Given the description of an element on the screen output the (x, y) to click on. 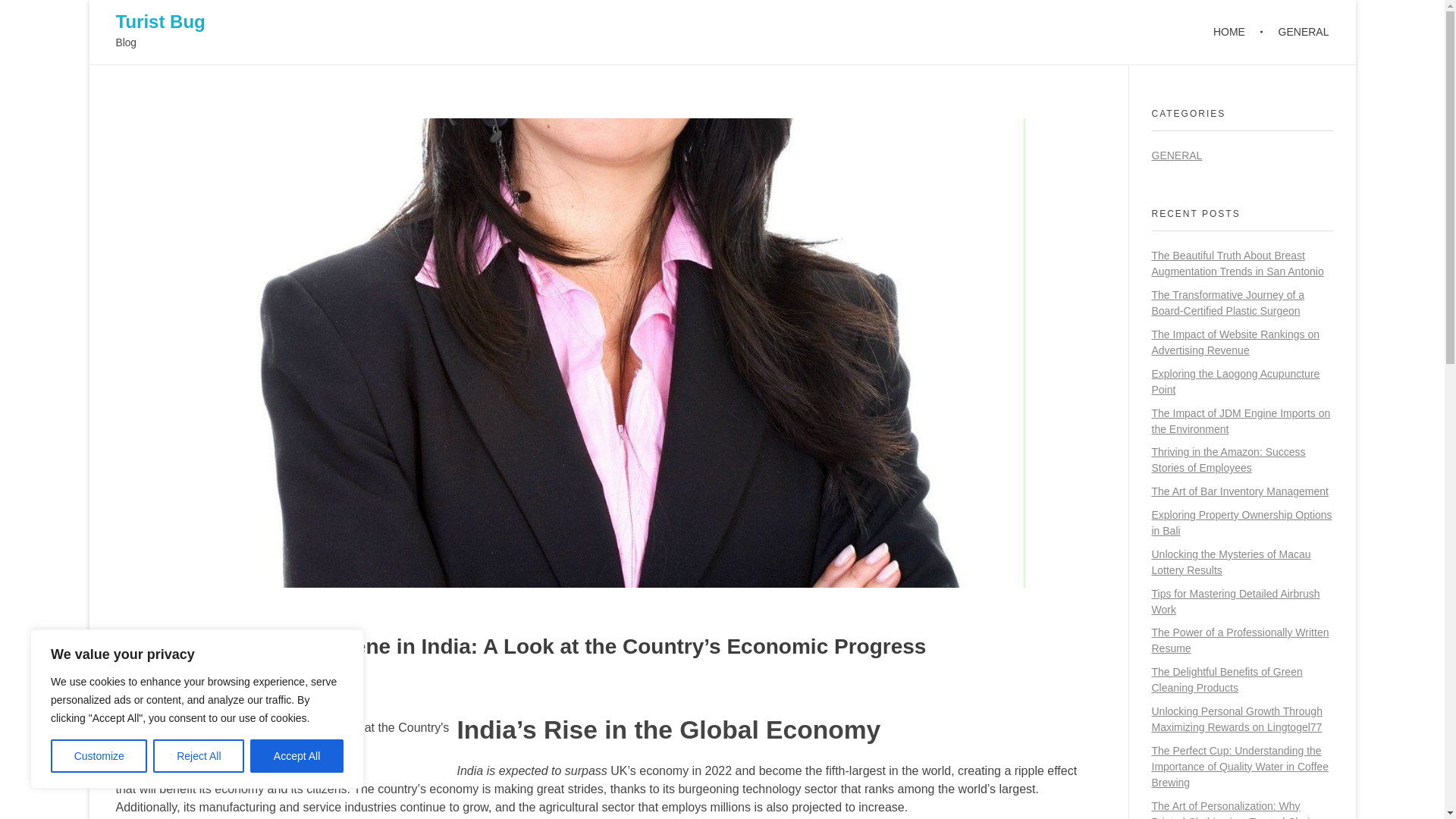
The Impact of Website Rankings on Advertising Revenue (1235, 342)
Reject All (198, 756)
GENERAL (1295, 32)
View all posts in General (276, 686)
Turist Bug (160, 21)
Thriving in the Amazon: Success Stories of Employees (1227, 459)
Customize (98, 756)
Turist Bug (160, 21)
GENERAL (1176, 155)
